Given the description of an element on the screen output the (x, y) to click on. 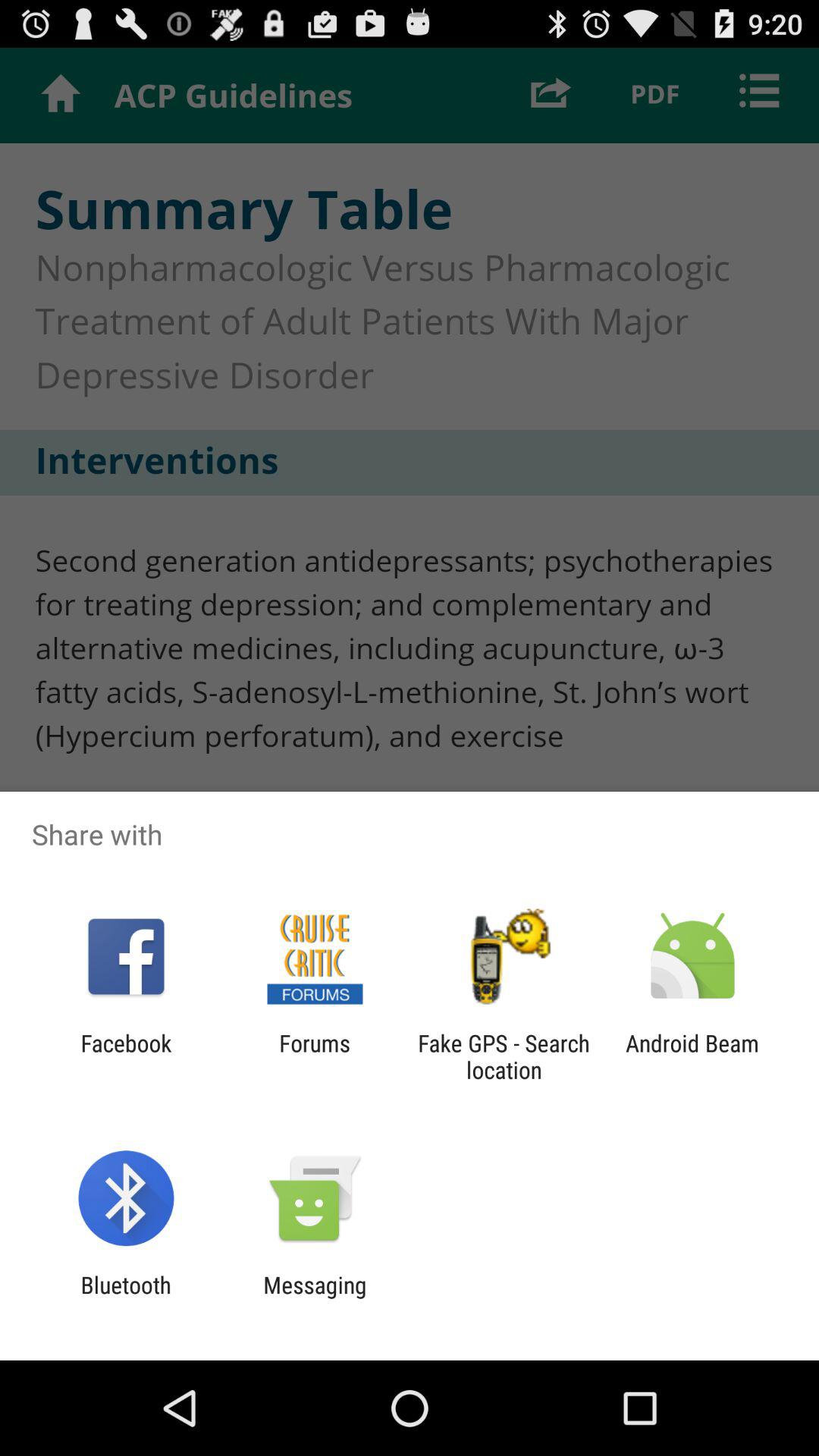
launch app to the right of the forums item (503, 1056)
